Given the description of an element on the screen output the (x, y) to click on. 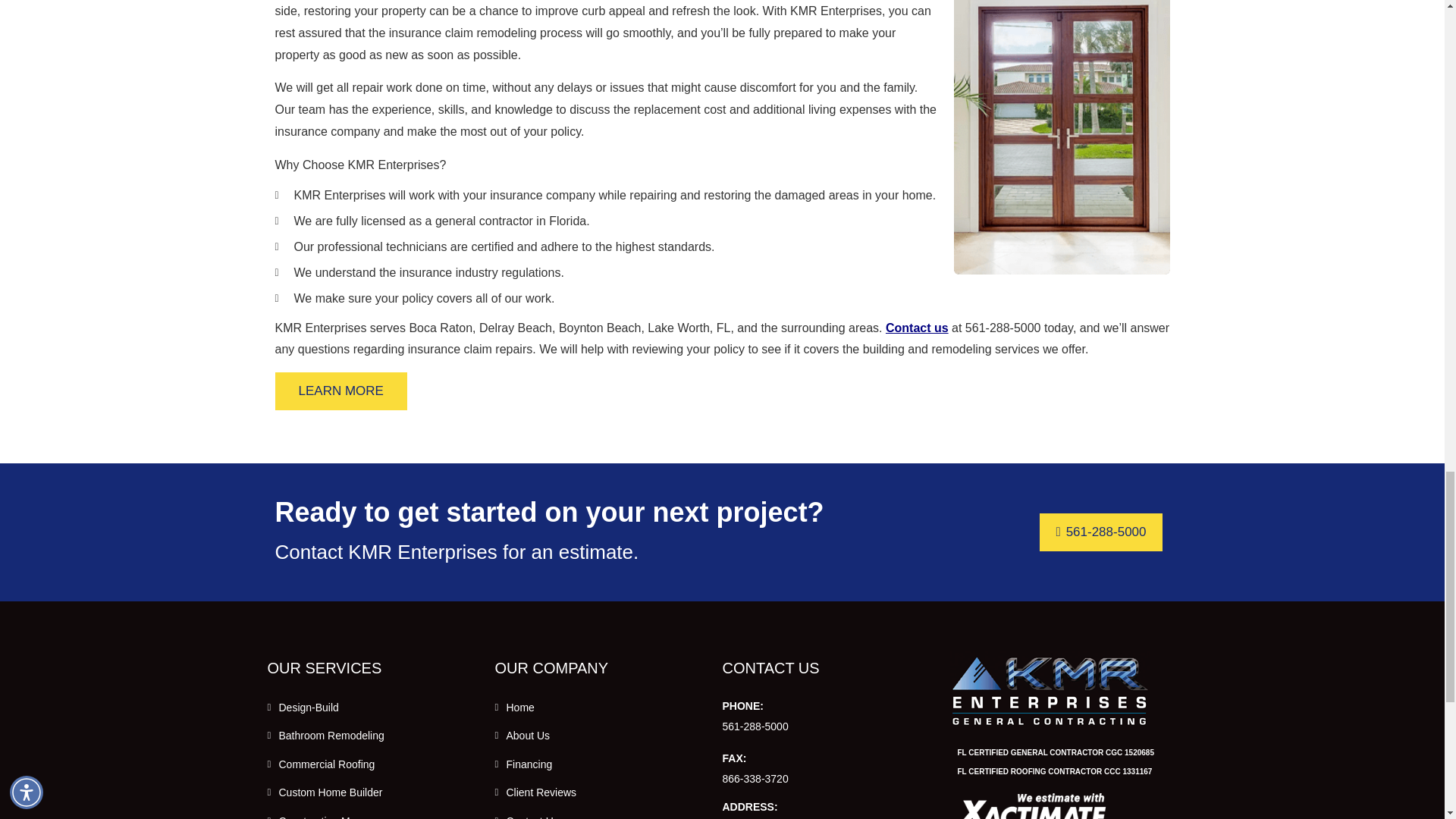
Custom Home Builder (330, 792)
Contact us (917, 327)
Construction Manager (331, 816)
LEARN MORE (340, 391)
Bathroom Remodeling (331, 735)
561-288-5000 (1100, 532)
Commercial Roofing (327, 764)
Design-Build (309, 707)
